Given the description of an element on the screen output the (x, y) to click on. 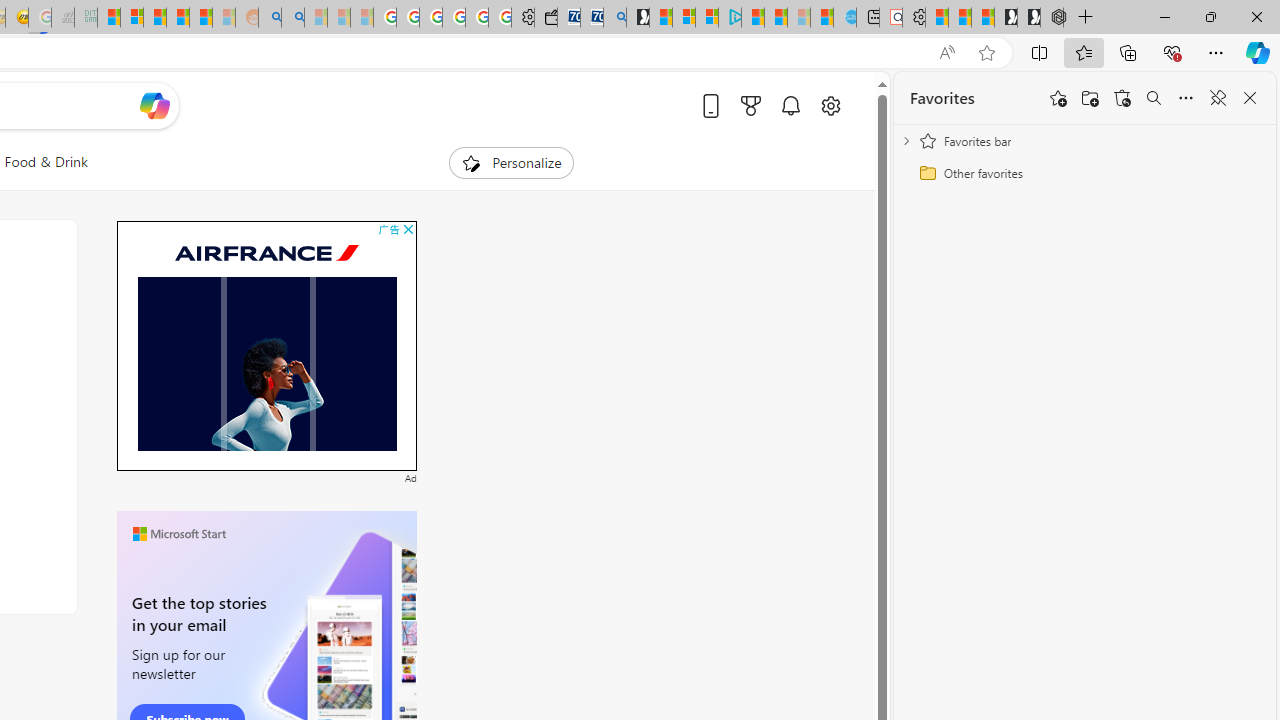
Search favorites (1153, 98)
Student Loan Update: Forgiveness Program Ends This Month (200, 17)
Close favorites (1250, 98)
Food & Drink (45, 162)
Restore deleted favorites (1122, 98)
